Given the description of an element on the screen output the (x, y) to click on. 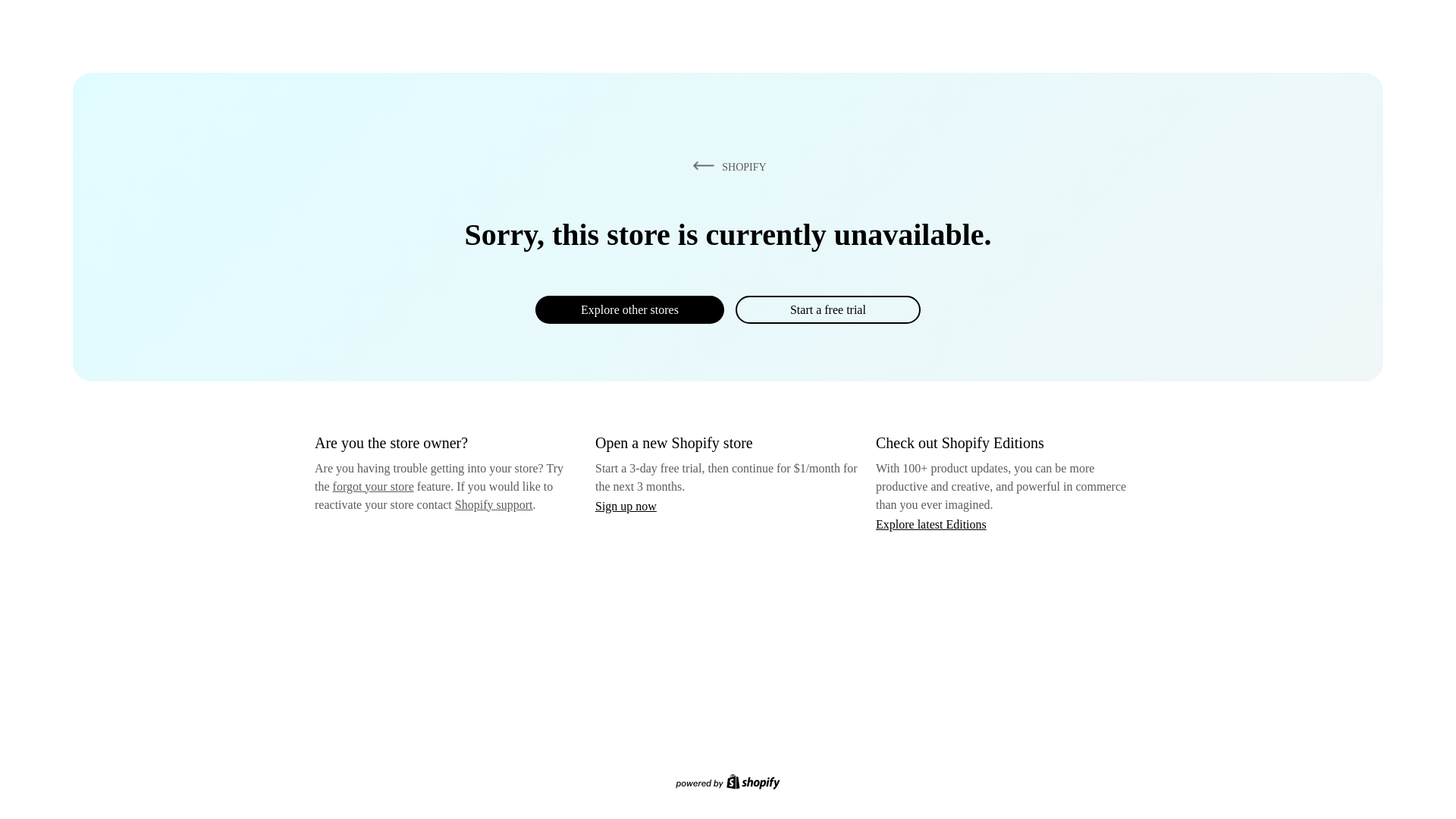
Sign up now (625, 505)
Explore other stores (629, 309)
SHOPIFY (726, 166)
Start a free trial (827, 309)
forgot your store (373, 486)
Shopify support (493, 504)
Explore latest Editions (931, 523)
